Given the description of an element on the screen output the (x, y) to click on. 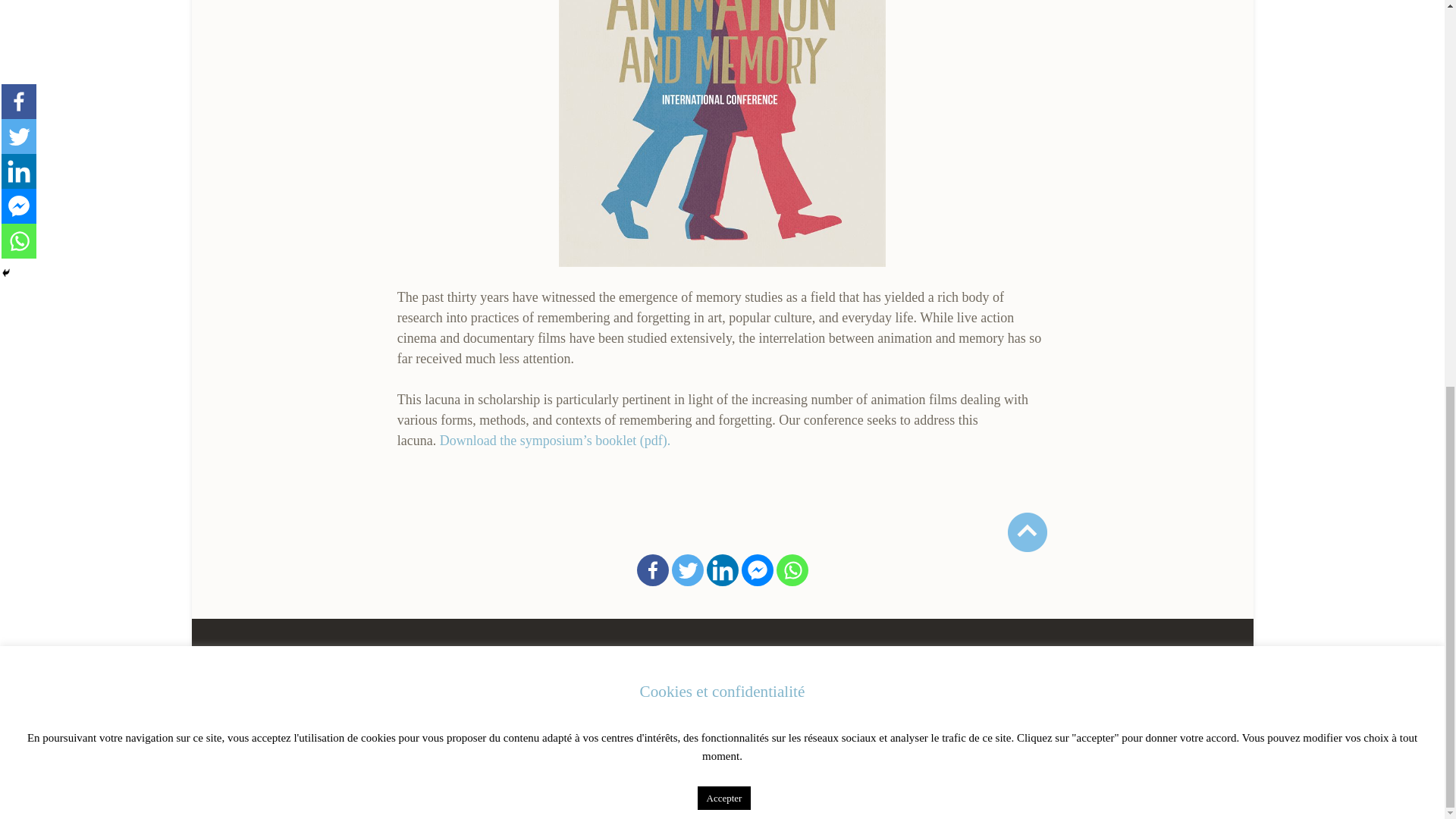
Linkedin (722, 570)
Twitter (687, 570)
Facebook (652, 570)
Whatsapp (792, 570)
